Given the description of an element on the screen output the (x, y) to click on. 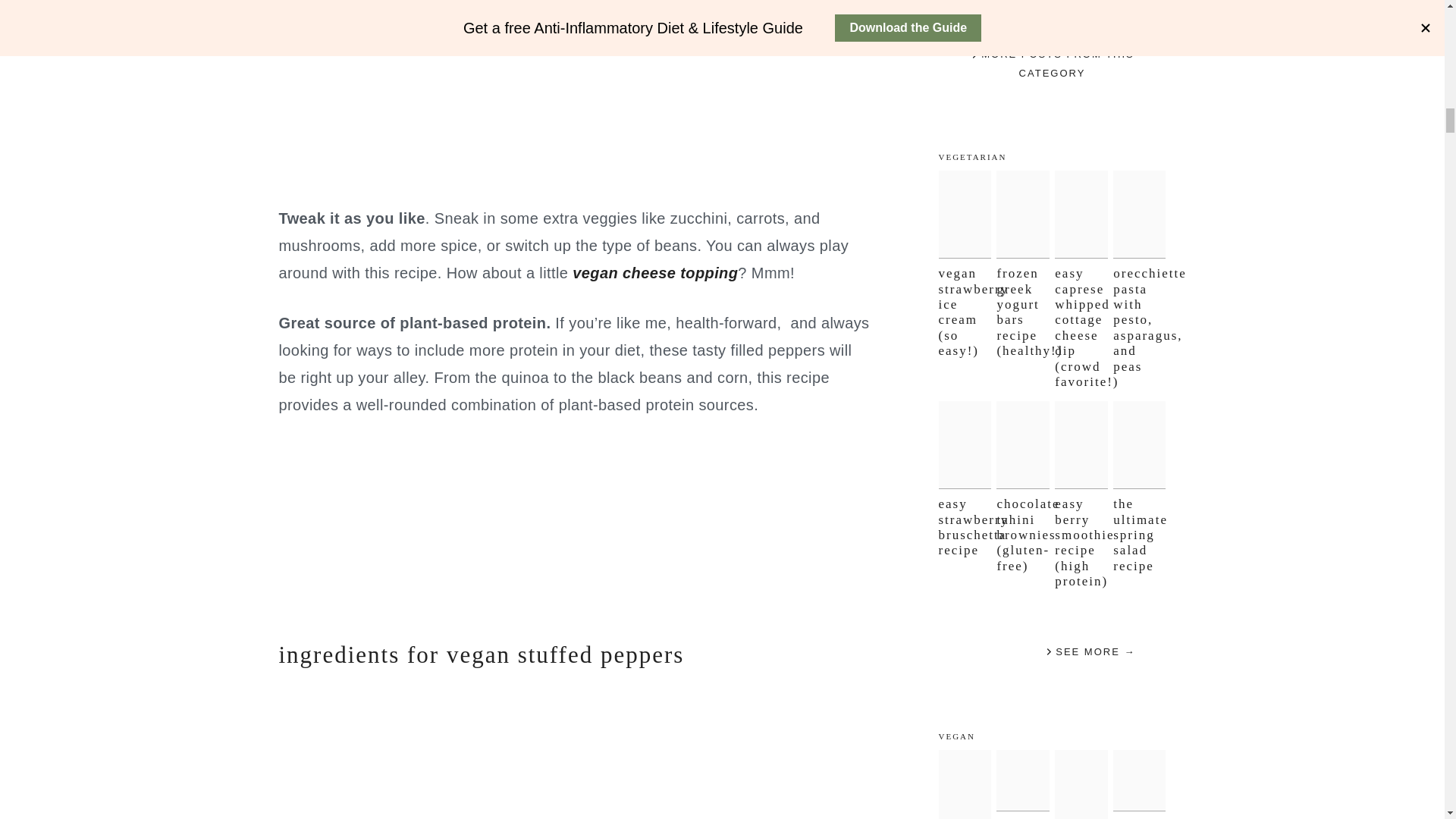
vegan cheese topping (655, 272)
